Given the description of an element on the screen output the (x, y) to click on. 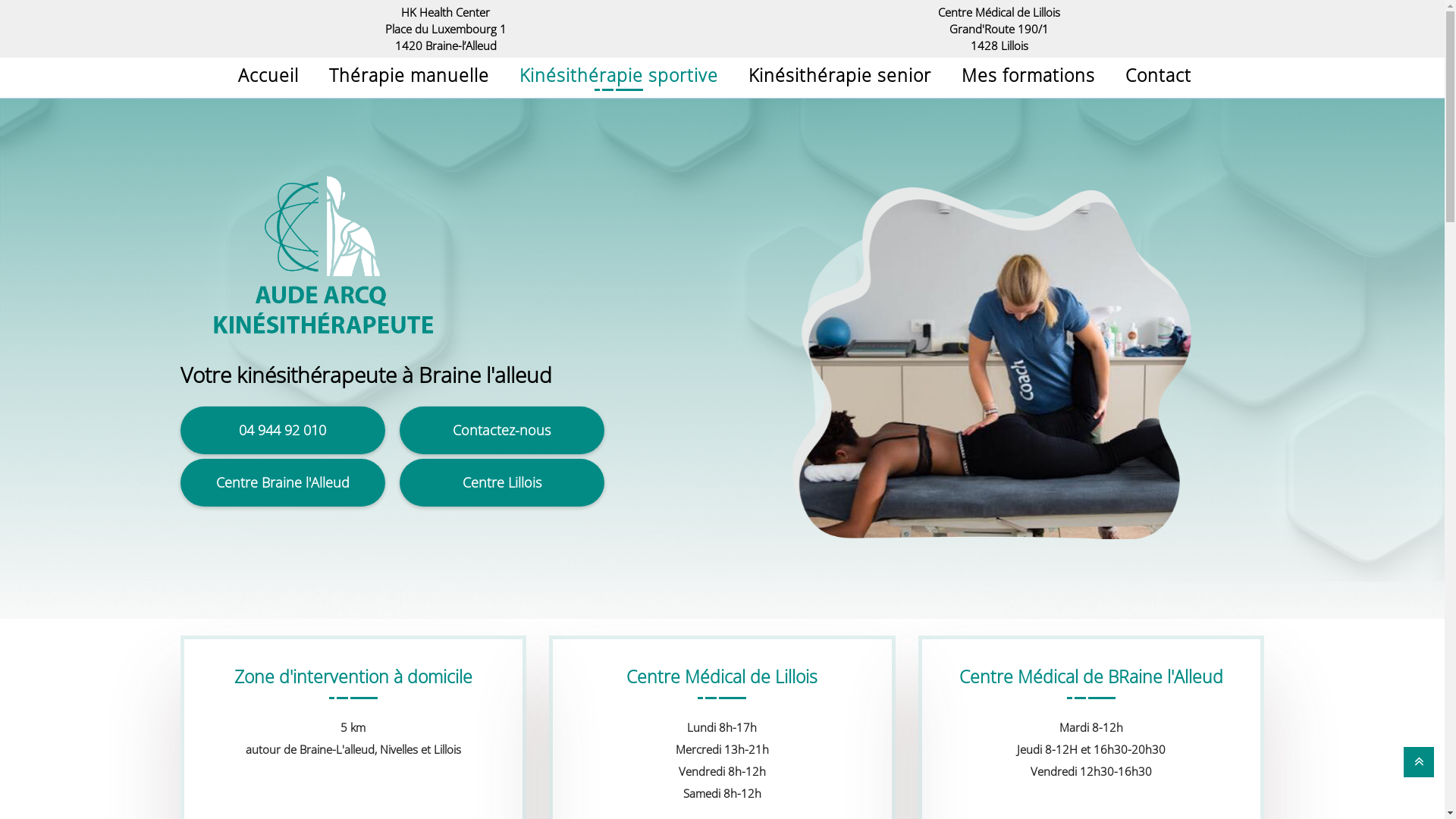
Contactez-nous Element type: text (500, 430)
Centre Braine l'Alleud Element type: text (282, 482)
Scroll to top Element type: hover (1418, 761)
04 944 92 010 Element type: text (282, 429)
Mes formations Element type: text (1028, 74)
Centre Lillois Element type: text (500, 482)
Accueil Element type: text (268, 74)
Contact Element type: text (1158, 74)
